Given the description of an element on the screen output the (x, y) to click on. 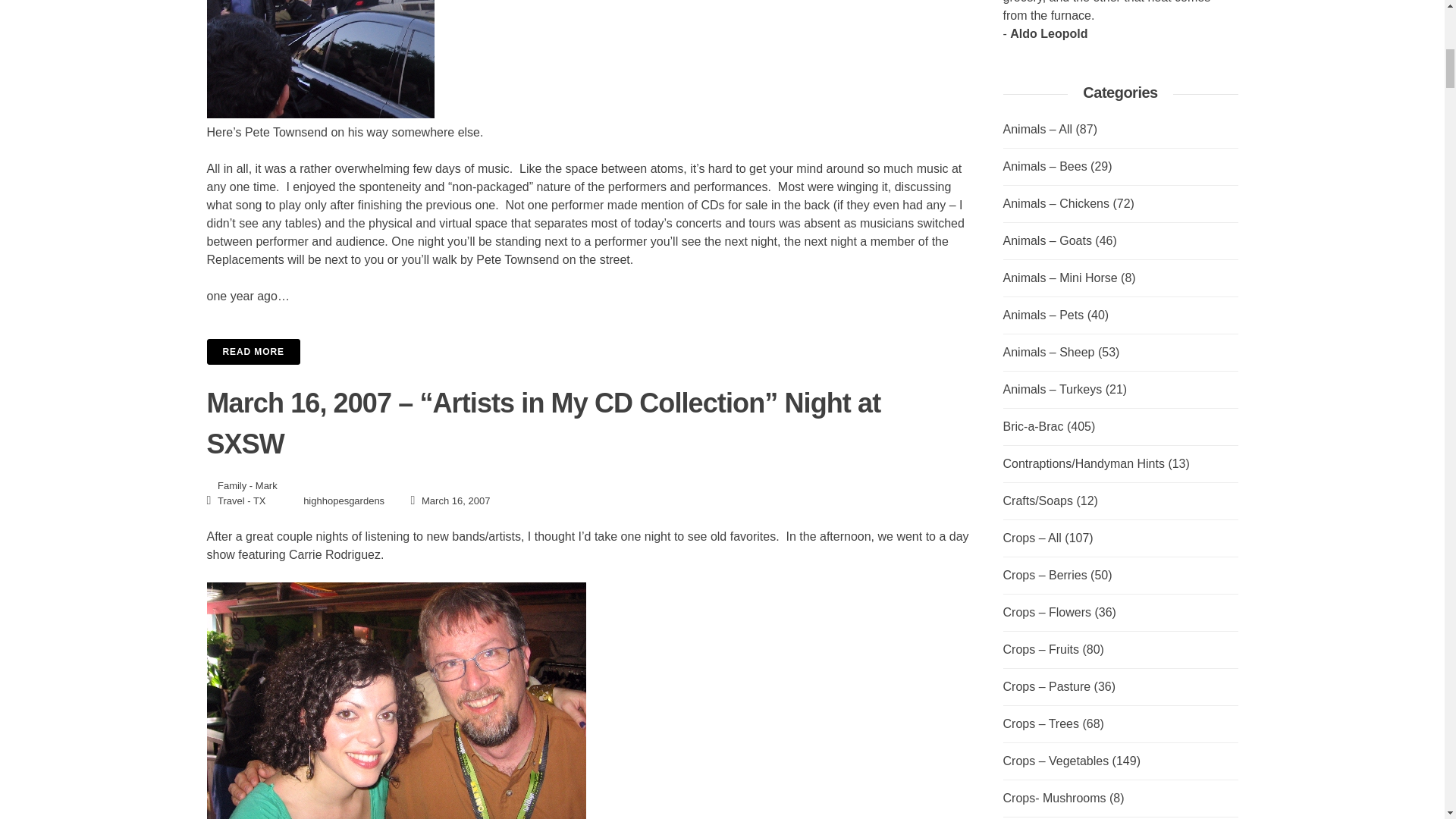
READ MORE (252, 351)
READ MORE (589, 351)
Family - Mark (247, 485)
Travel - TX (241, 500)
